Given the description of an element on the screen output the (x, y) to click on. 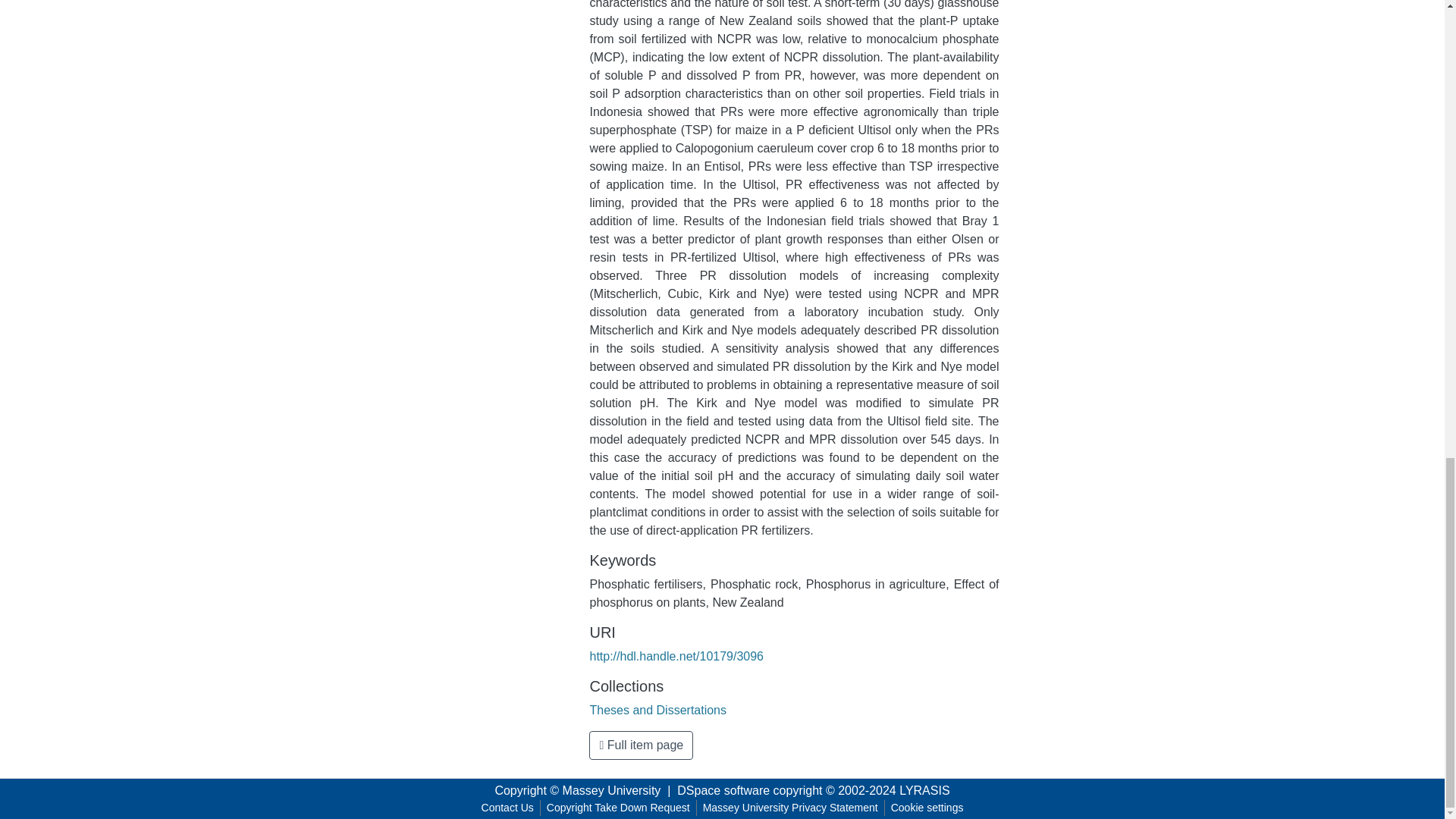
Contact Us (508, 807)
LYRASIS (924, 789)
DSpace software (723, 789)
Theses and Dissertations (657, 709)
Full item page (641, 745)
